Given the description of an element on the screen output the (x, y) to click on. 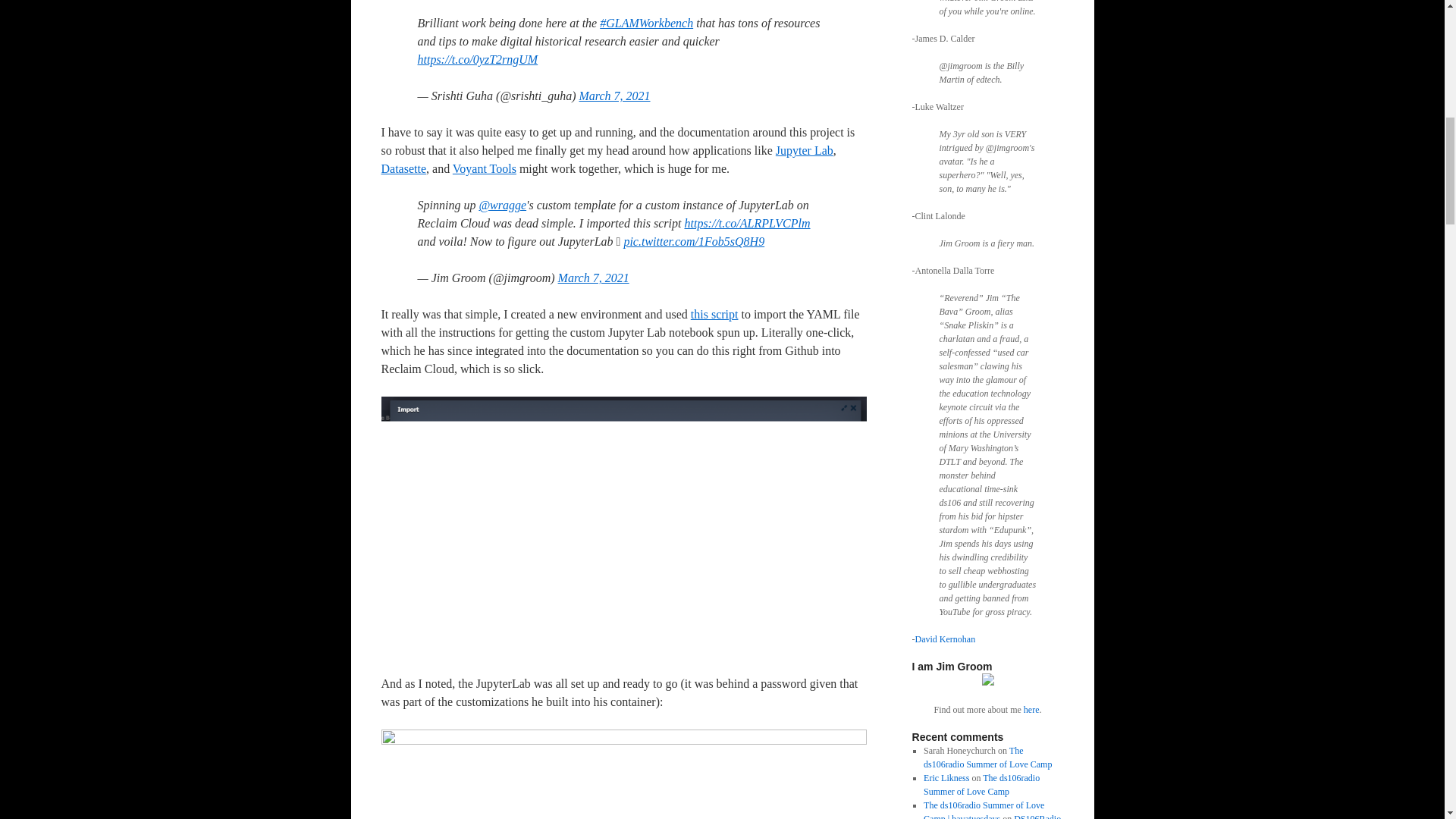
Voyant Tools (484, 168)
Datasette (403, 168)
March 7, 2021 (592, 277)
March 7, 2021 (613, 95)
Jupyter Lab (804, 150)
this script (714, 314)
